Given the description of an element on the screen output the (x, y) to click on. 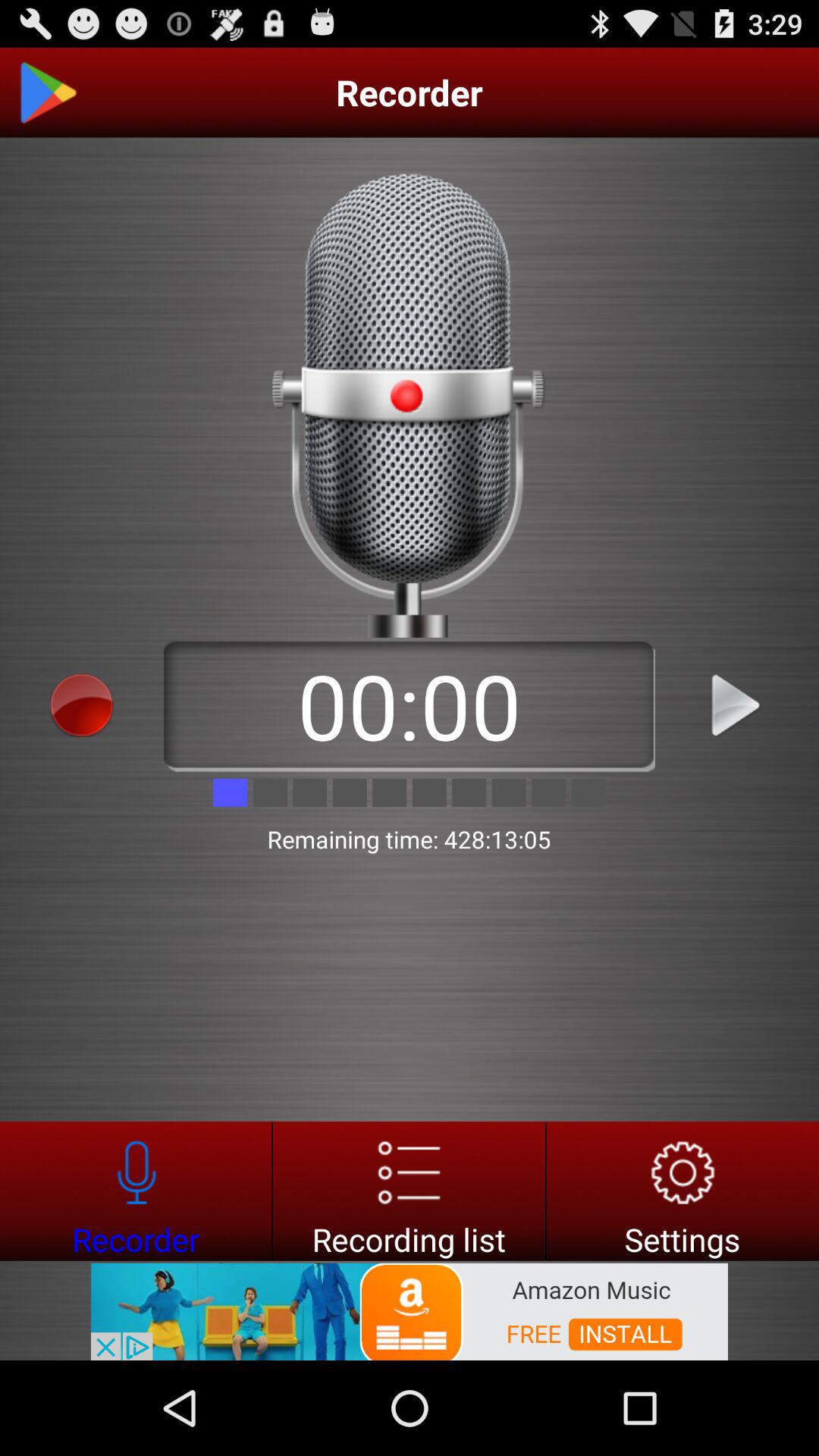
advertisement (409, 1310)
